Given the description of an element on the screen output the (x, y) to click on. 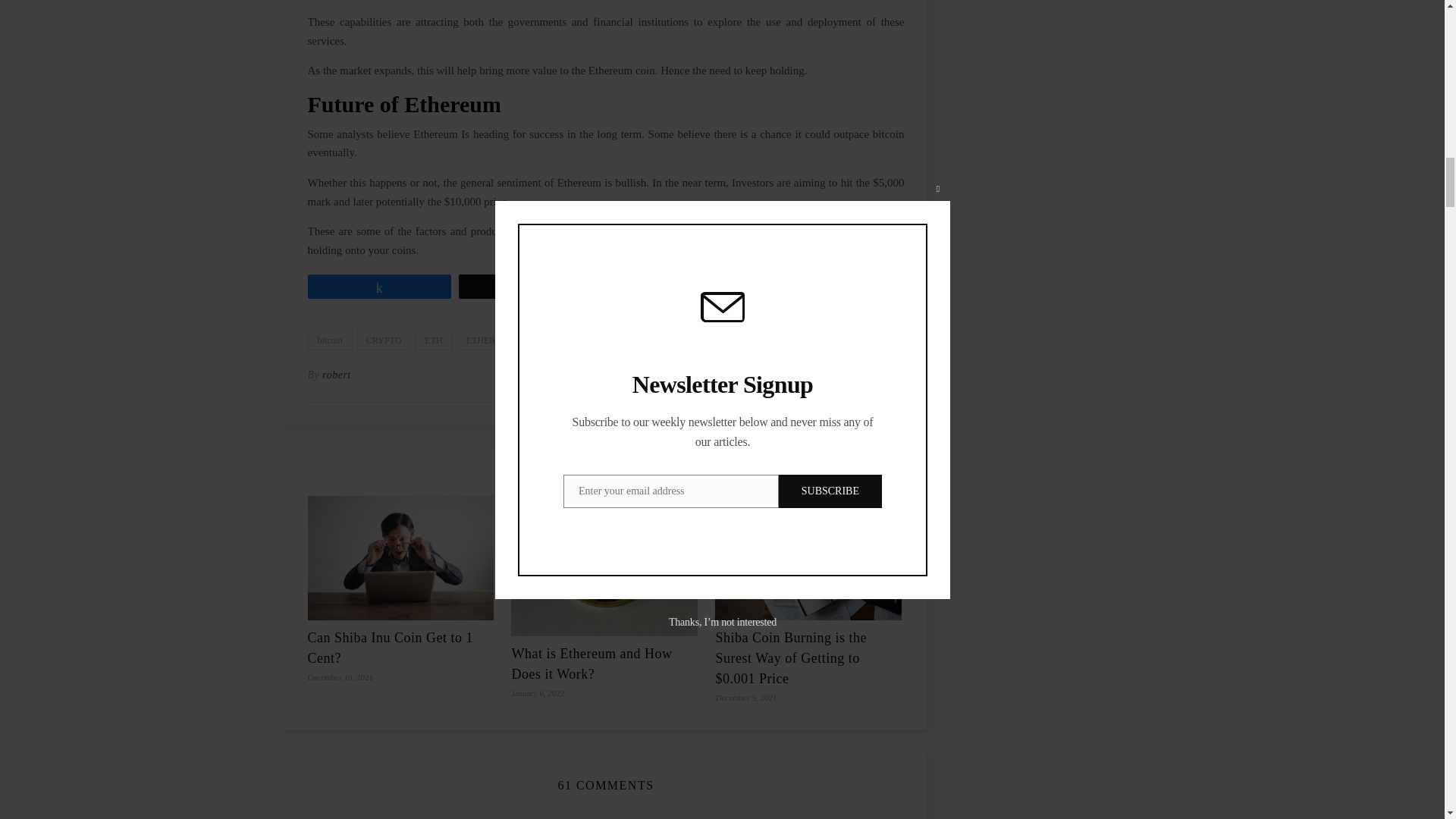
CRYPTO (383, 340)
Posts by robert (335, 374)
ETH (432, 340)
bitcoin (329, 340)
